Given the description of an element on the screen output the (x, y) to click on. 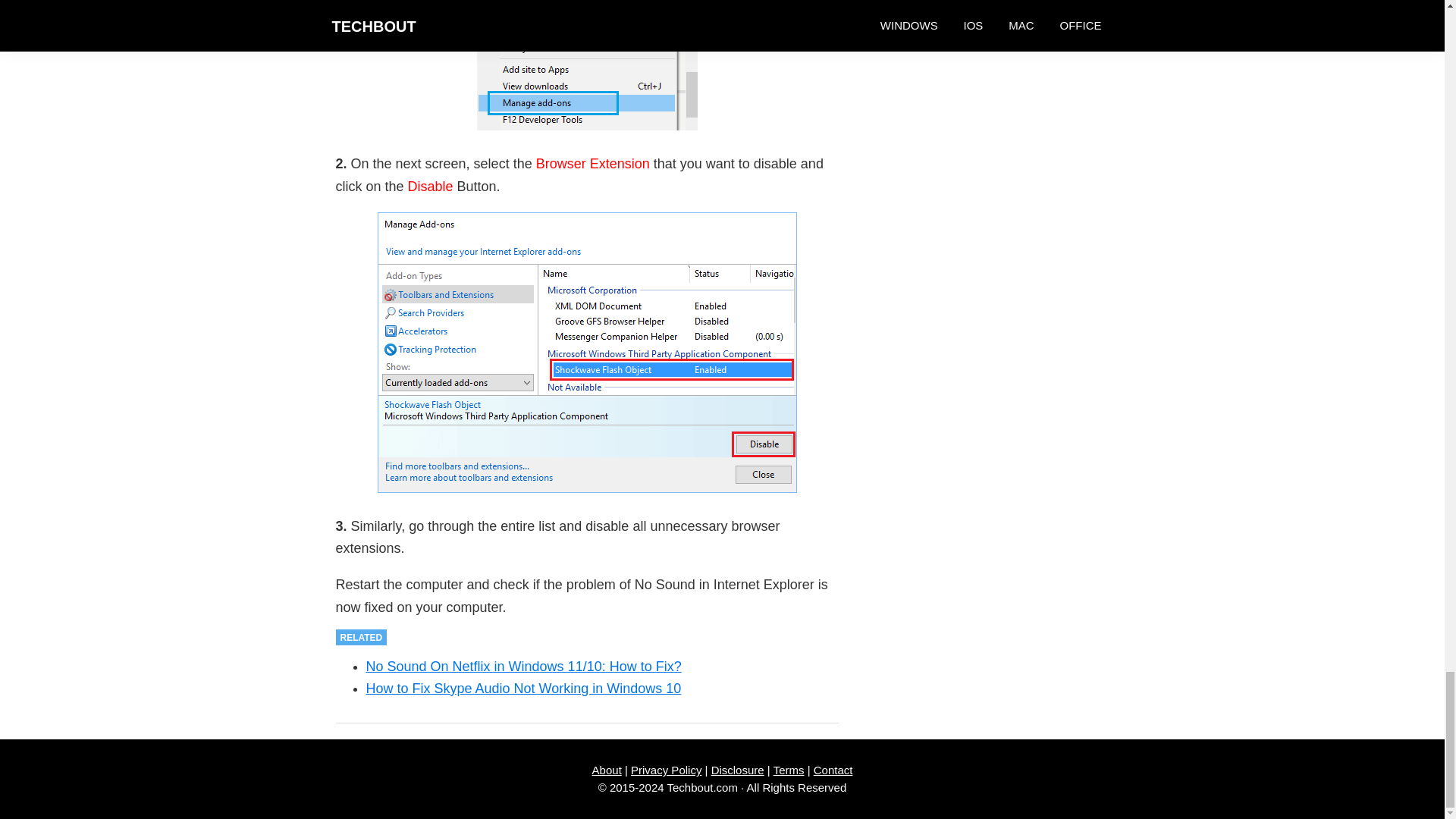
Privacy Policy (665, 769)
Manage Add-Ons Option in Internet Explorer (586, 65)
How to Fix Skype Audio Not Working in Windows 10 (523, 688)
Terms (789, 769)
Disclosure (737, 769)
About (606, 769)
Disable Extensions in Internet Explorer (586, 352)
Contact (833, 769)
